Given the description of an element on the screen output the (x, y) to click on. 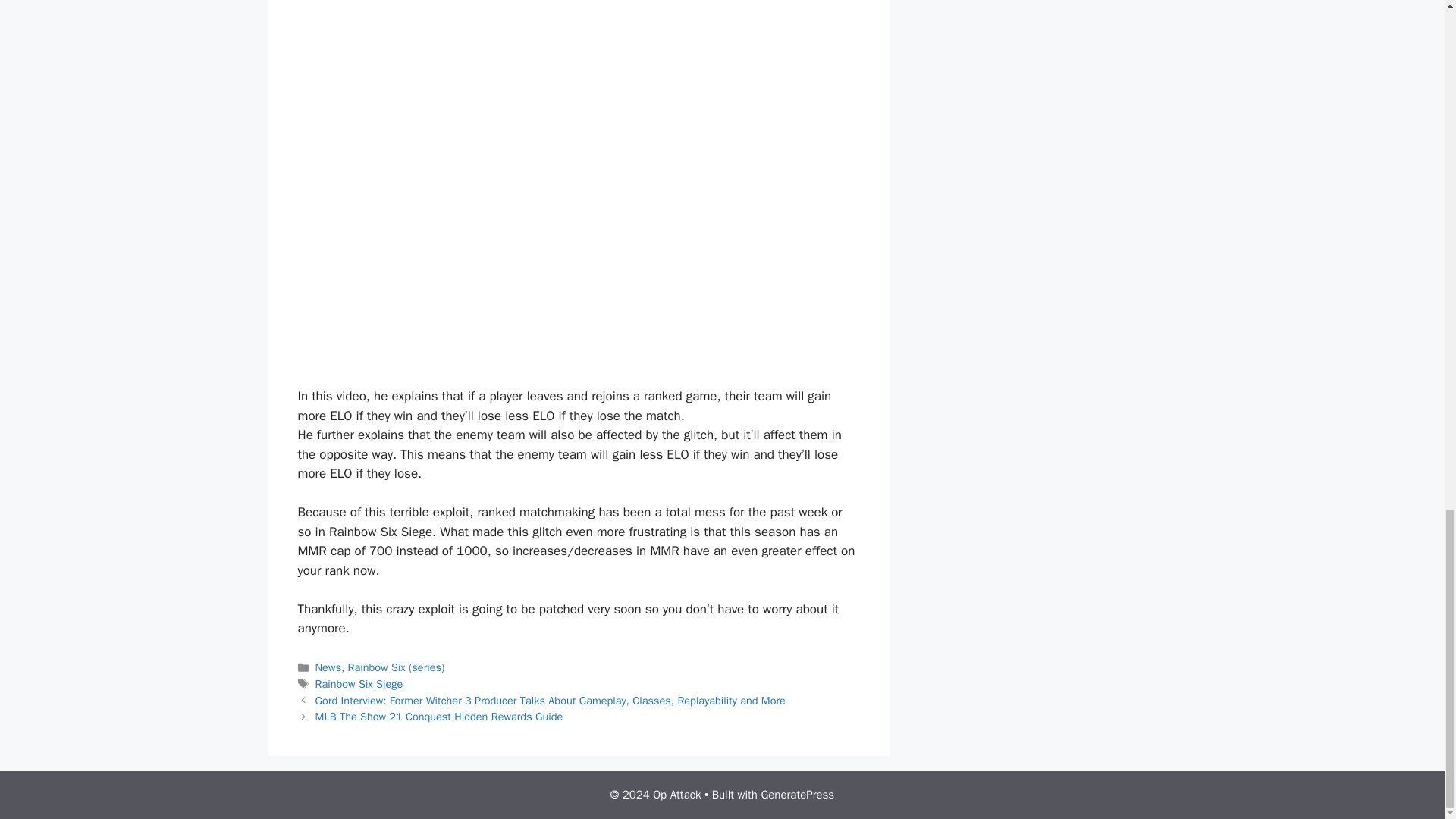
GeneratePress (797, 794)
MLB The Show 21 Conquest Hidden Rewards Guide (439, 716)
News (327, 667)
Rainbow Six Siege (359, 684)
